Given the description of an element on the screen output the (x, y) to click on. 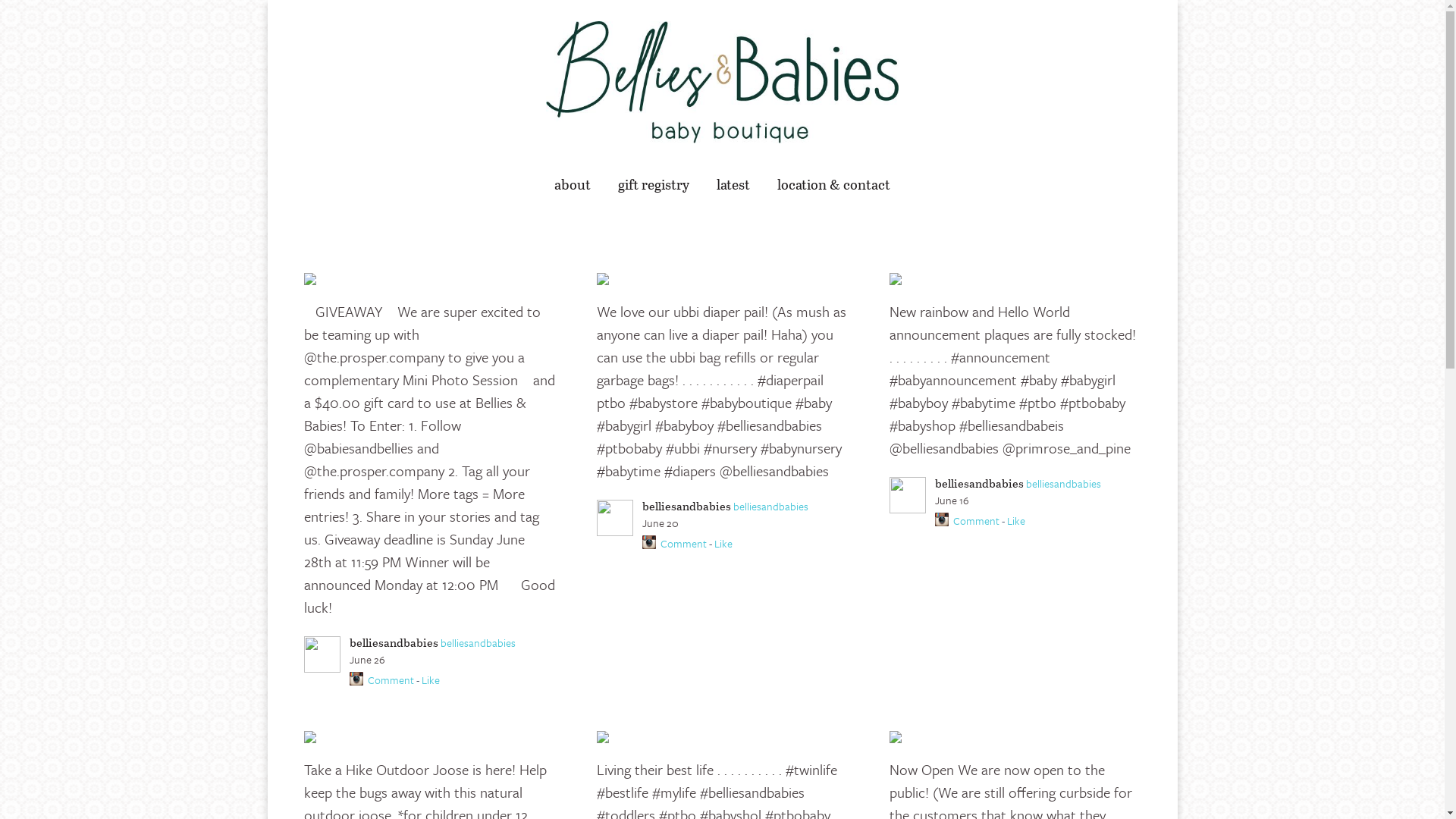
belliesandbabies belliesandbabies Element type: text (1037, 483)
latest Element type: text (732, 184)
Like Element type: text (1016, 520)
Comment Element type: text (976, 520)
gift registry Element type: text (653, 184)
Bellies & Babies Element type: hover (722, 82)
Comment Element type: text (683, 543)
about Element type: text (572, 184)
Like Element type: text (723, 543)
Comment Element type: text (390, 679)
belliesandbabies belliesandbabies Element type: text (451, 642)
location & contact Element type: text (833, 184)
Like Element type: text (430, 679)
belliesandbabies belliesandbabies Element type: text (744, 506)
